Given the description of an element on the screen output the (x, y) to click on. 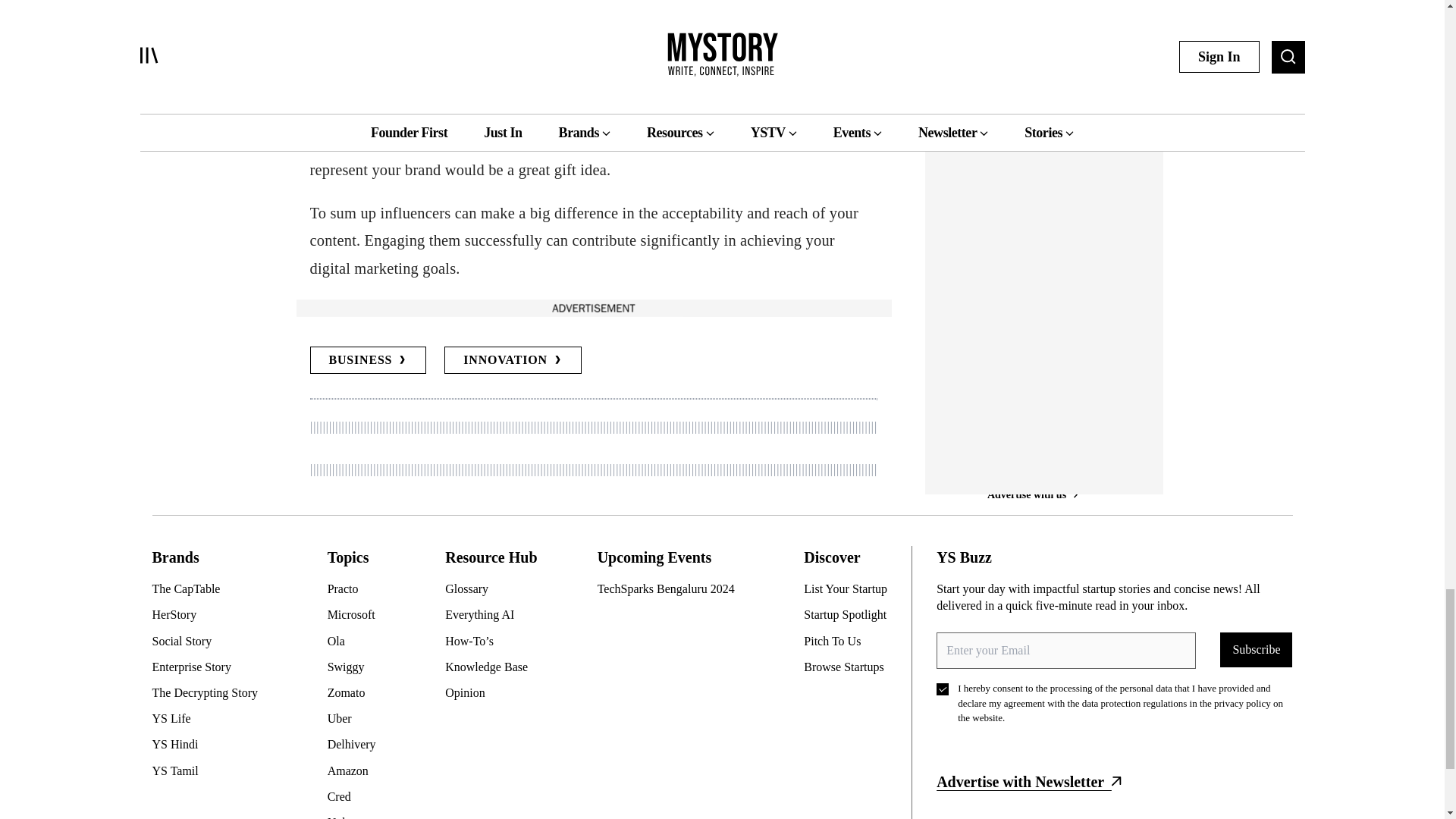
Customised gifts (661, 142)
BUSINESS (367, 359)
The CapTable (210, 588)
Advertise with us (592, 308)
Enterprise Story (210, 667)
Social Story (210, 641)
INNOVATION (512, 359)
The Decrypting Story (210, 692)
HerStory (210, 614)
